Given the description of an element on the screen output the (x, y) to click on. 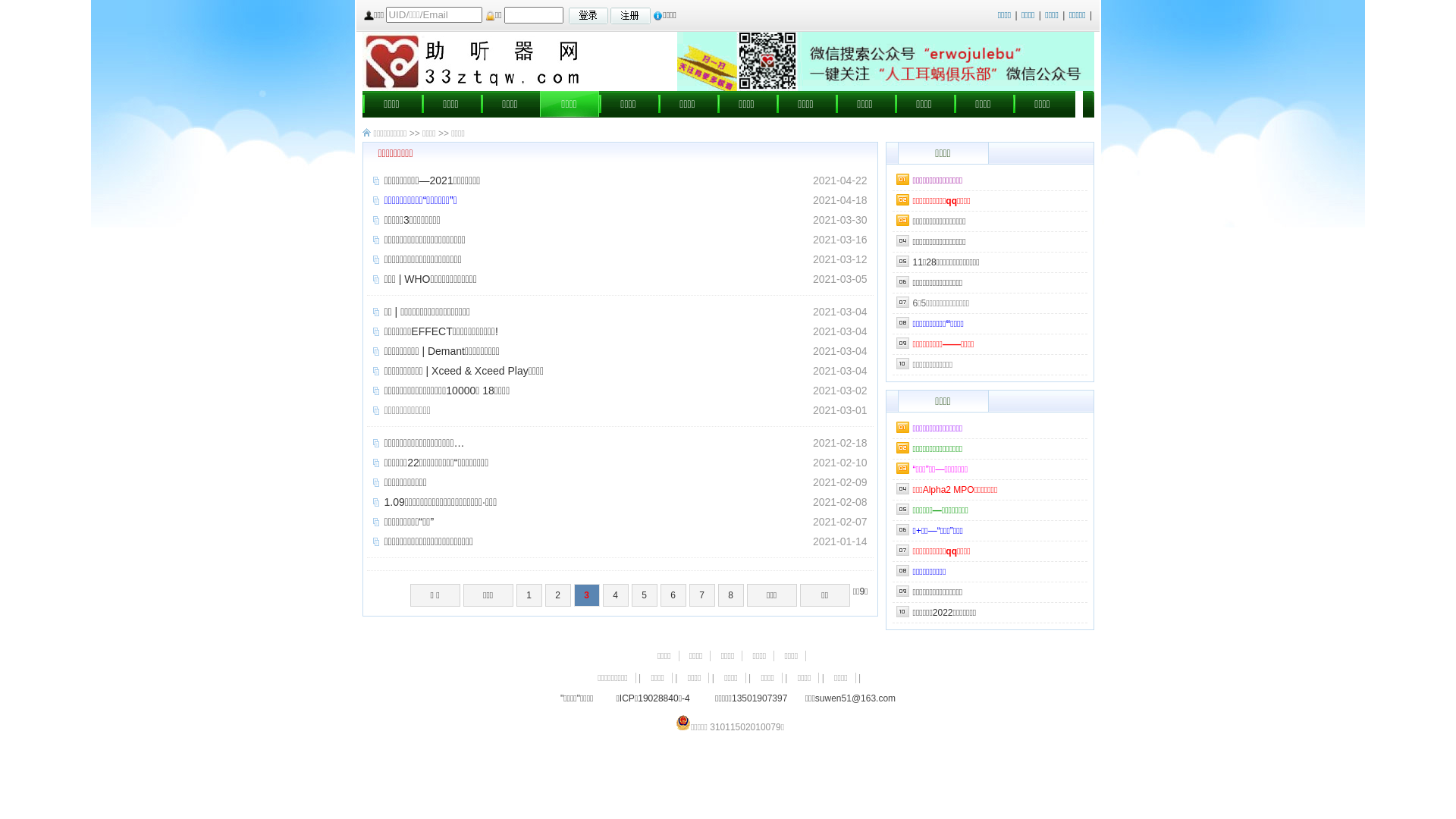
3 Element type: text (586, 594)
4 Element type: text (615, 594)
1 Element type: text (529, 594)
5 Element type: text (644, 594)
7 Element type: text (702, 594)
6 Element type: text (673, 594)
8 Element type: text (730, 594)
2 Element type: text (558, 594)
